Given the description of an element on the screen output the (x, y) to click on. 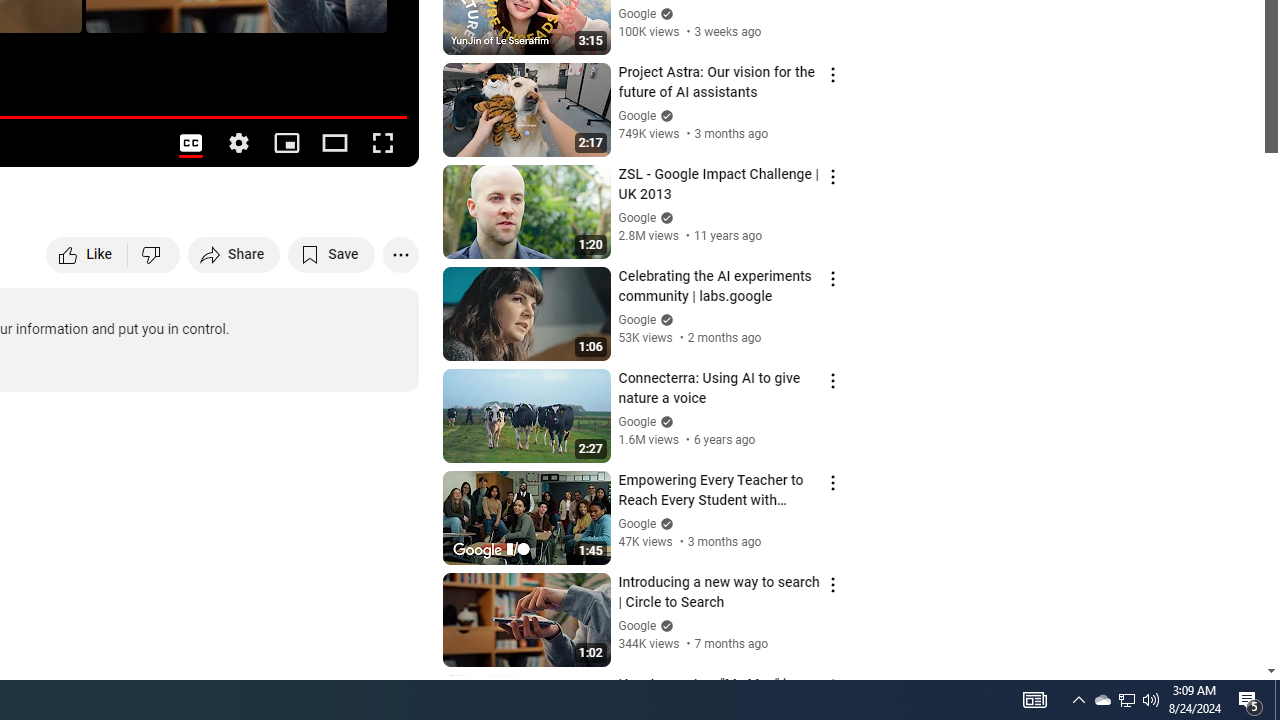
Dislike this video (154, 254)
Share (234, 254)
Like (87, 254)
Settings (237, 142)
Miniplayer (i) (286, 142)
Save to playlist (331, 254)
Full screen (f) (382, 142)
Action menu (832, 687)
More actions (399, 254)
